Given the description of an element on the screen output the (x, y) to click on. 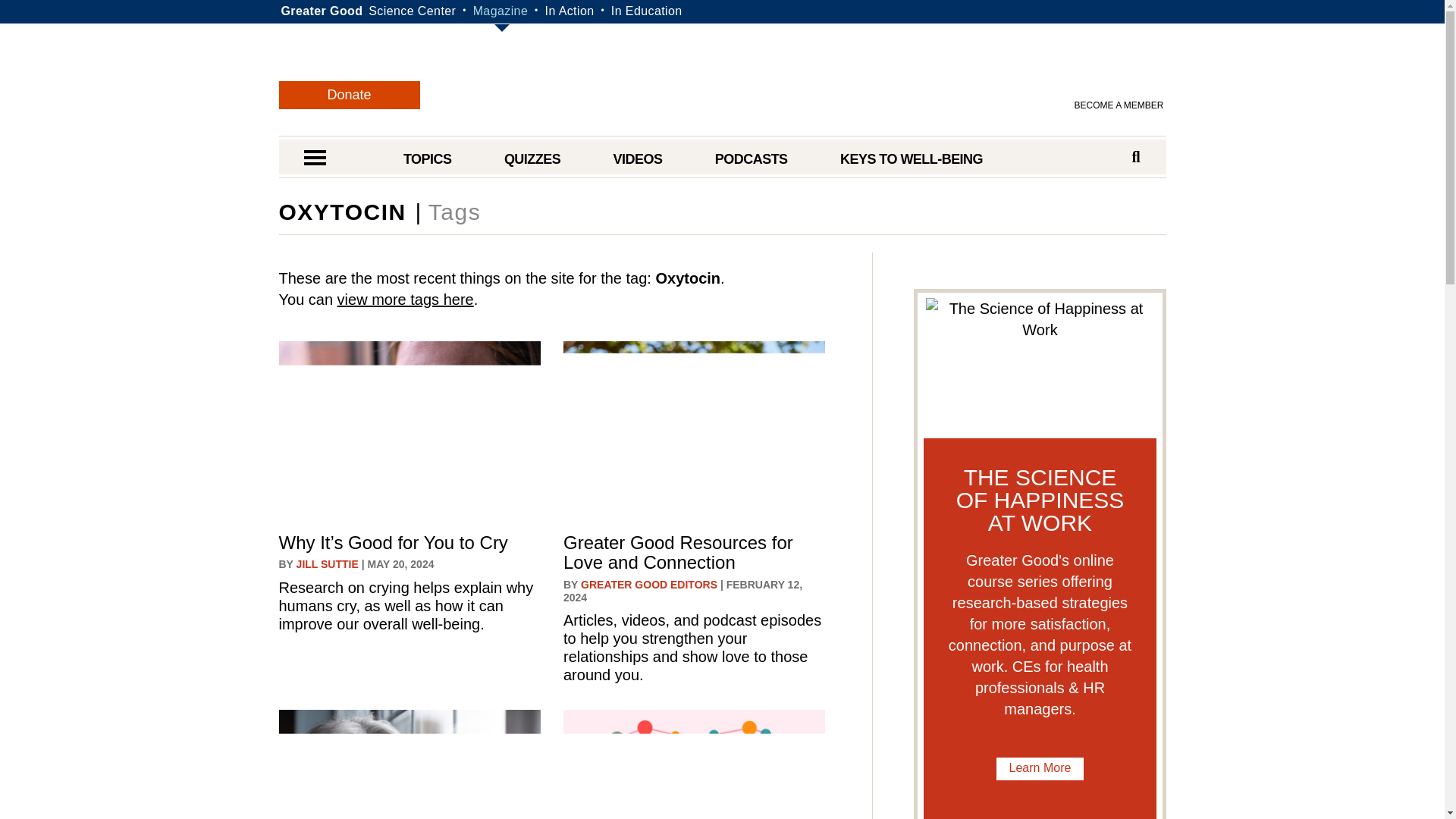
TOPICS (427, 158)
Greater Good Magazine (730, 81)
Magazine (500, 10)
VIDEOS (637, 158)
Greater Good In Education (646, 10)
Greater Good Science Center (411, 10)
nav menu (313, 158)
The Science of Happiness at Work (1039, 364)
BECOME A MEMBER (1118, 104)
Greater Good In Action (569, 10)
